Given the description of an element on the screen output the (x, y) to click on. 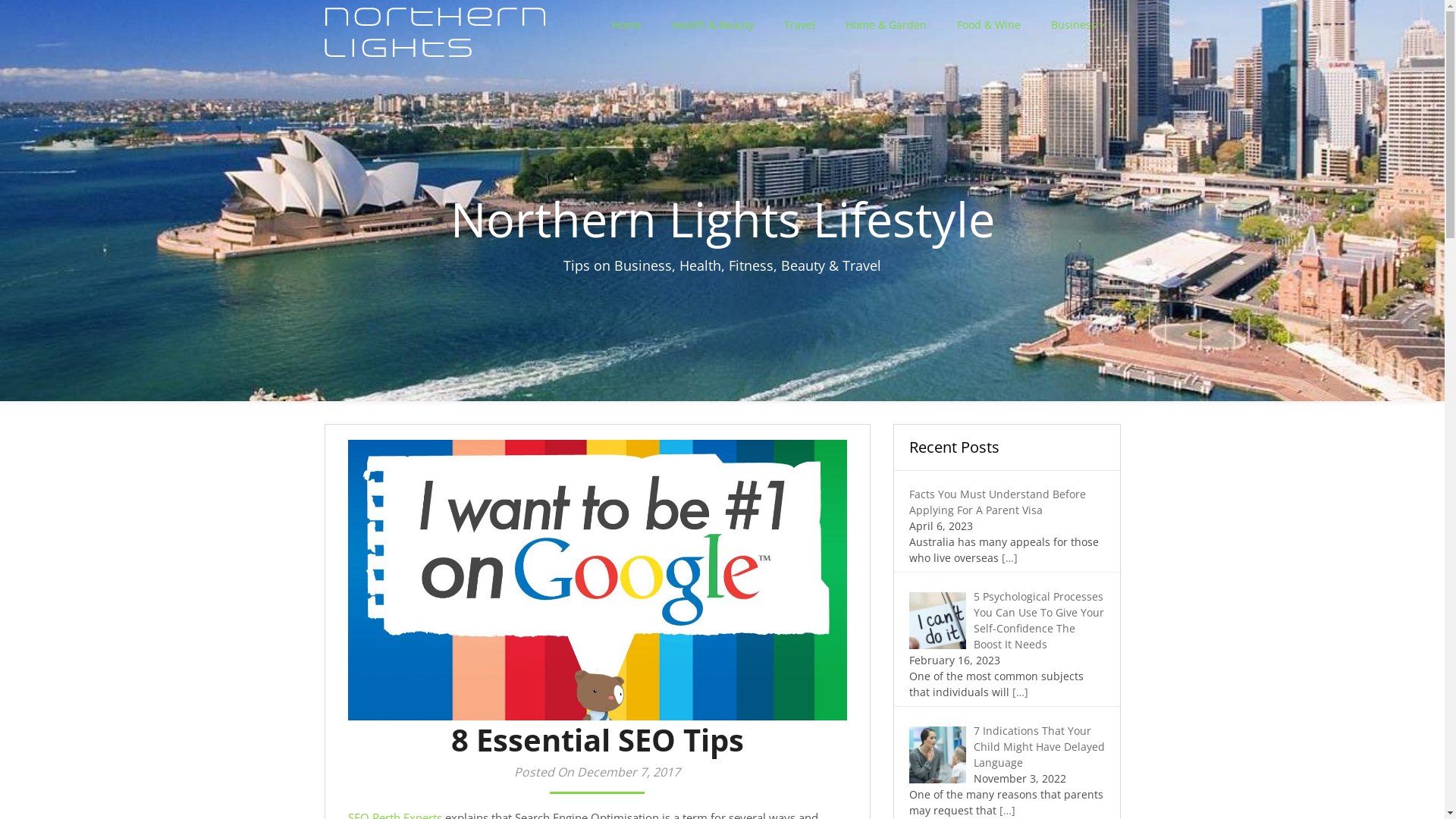
Travel Element type: text (799, 24)
8 Essential SEO Tips Element type: hover (596, 579)
Facts You Must Understand Before Applying For A Parent Visa Element type: text (996, 501)
Health & Beauty Element type: text (712, 24)
Home Element type: text (625, 24)
Business Element type: text (1077, 24)
7 Indications That Your Child Might Have Delayed Language Element type: text (1038, 746)
Food & Wine Element type: text (988, 24)
Home & Garden Element type: text (885, 24)
